Given the description of an element on the screen output the (x, y) to click on. 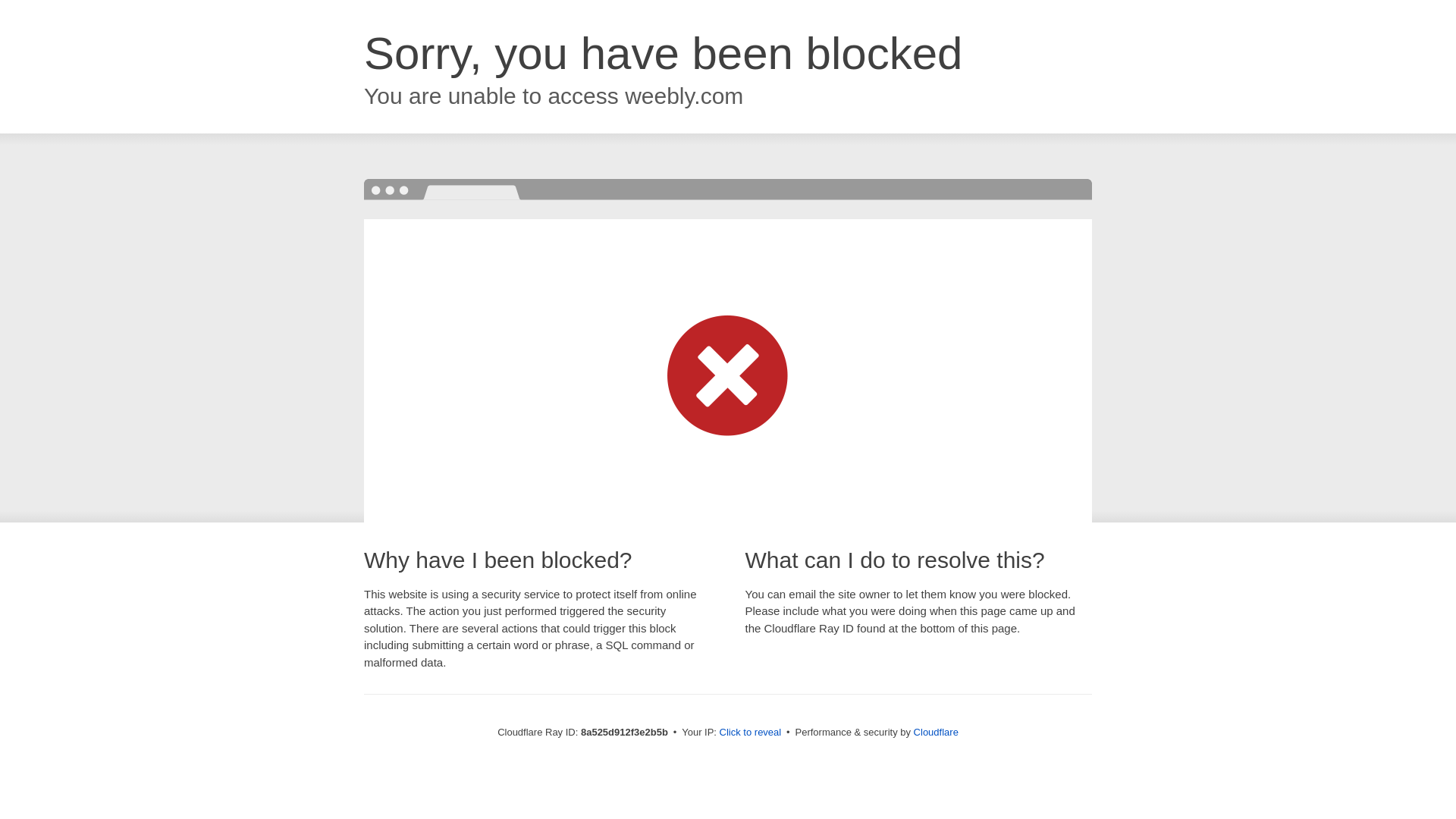
Click to reveal (750, 732)
Cloudflare (936, 731)
